Given the description of an element on the screen output the (x, y) to click on. 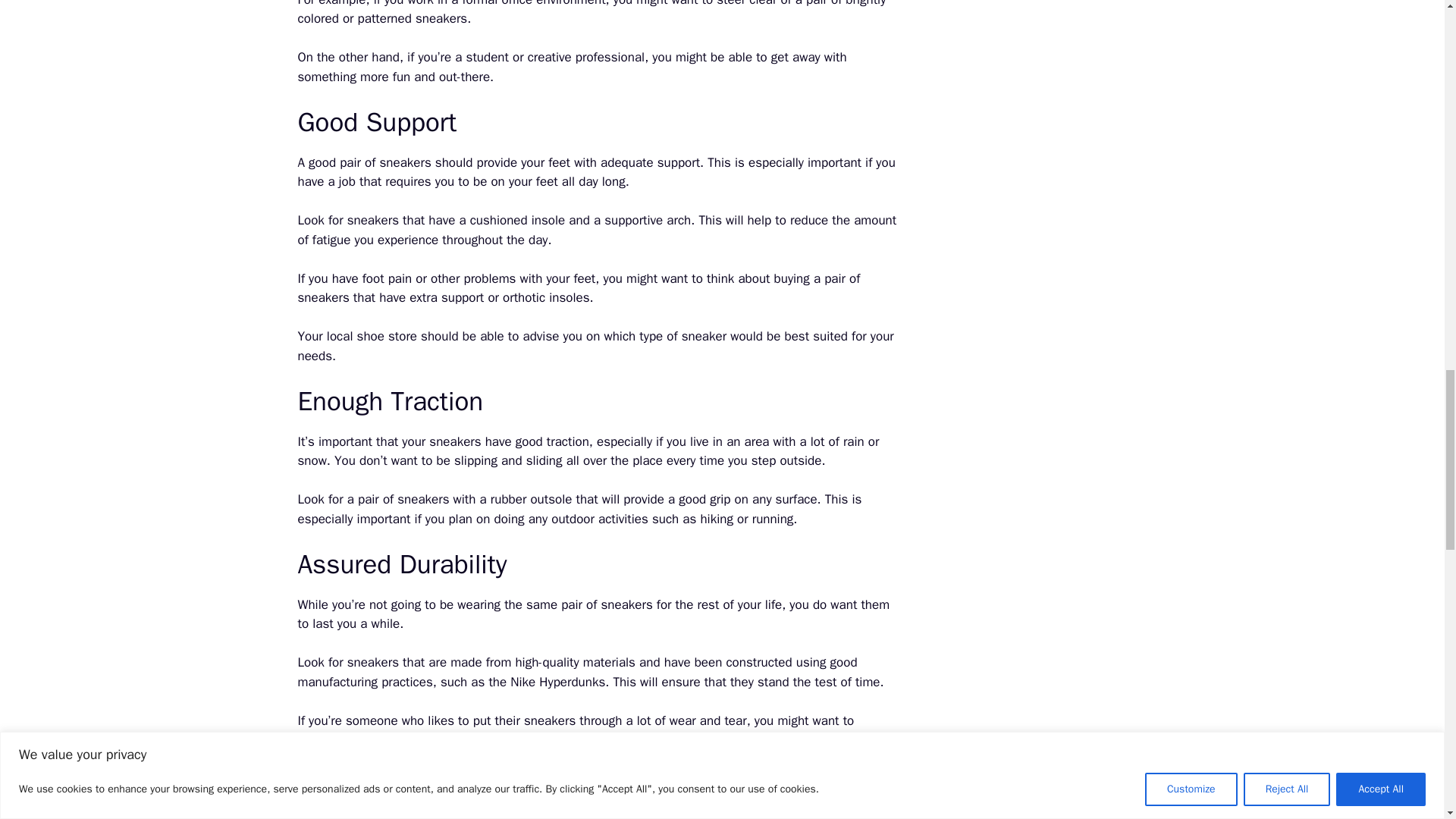
Nike Hyperdunks (558, 682)
